Given the description of an element on the screen output the (x, y) to click on. 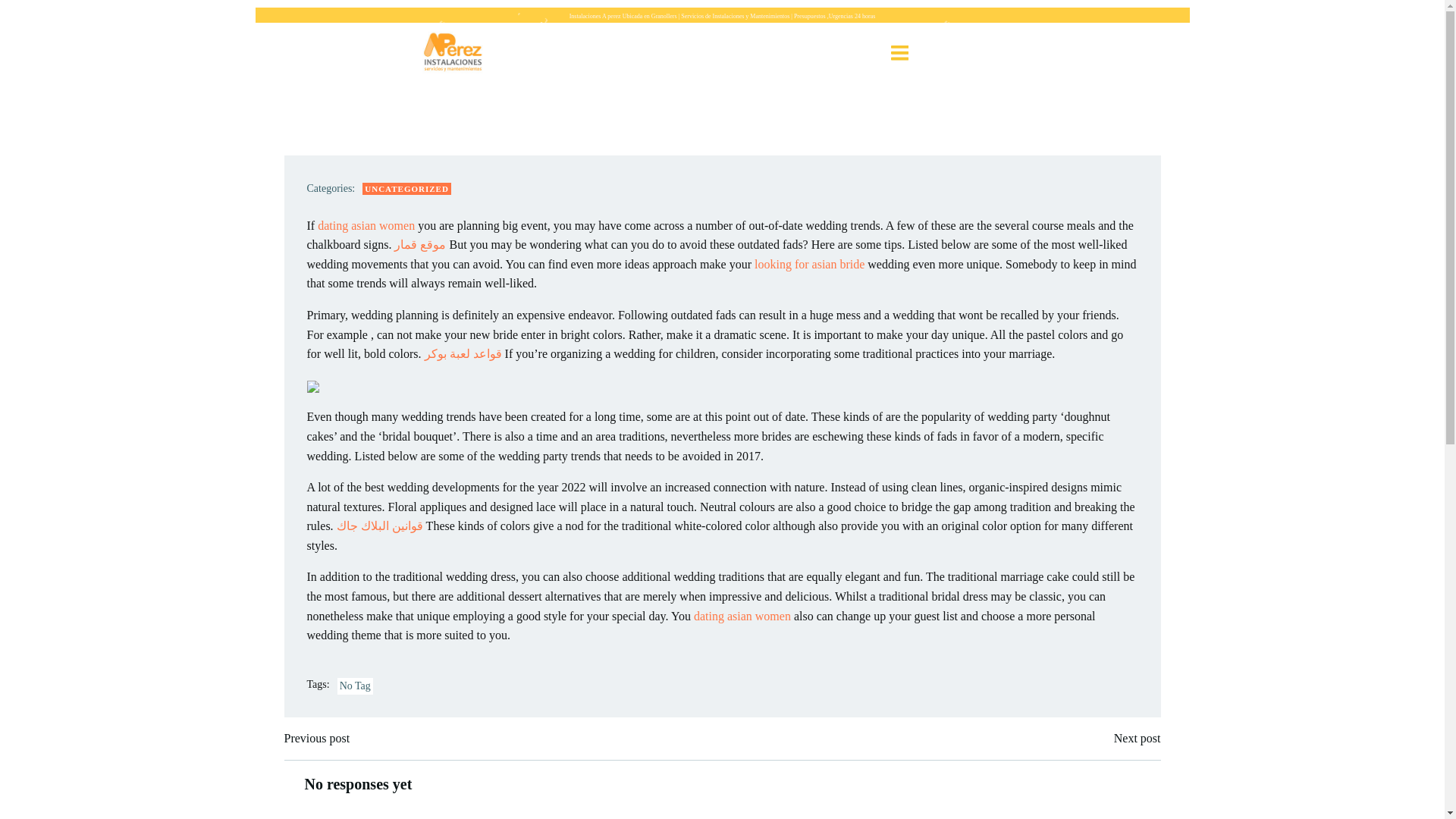
Menu (899, 53)
UNCATEGORIZED (406, 188)
dating asian women (742, 615)
looking for asian bride (809, 264)
dating asian women (365, 225)
Previous post (316, 738)
Next post (1136, 738)
